Given the description of an element on the screen output the (x, y) to click on. 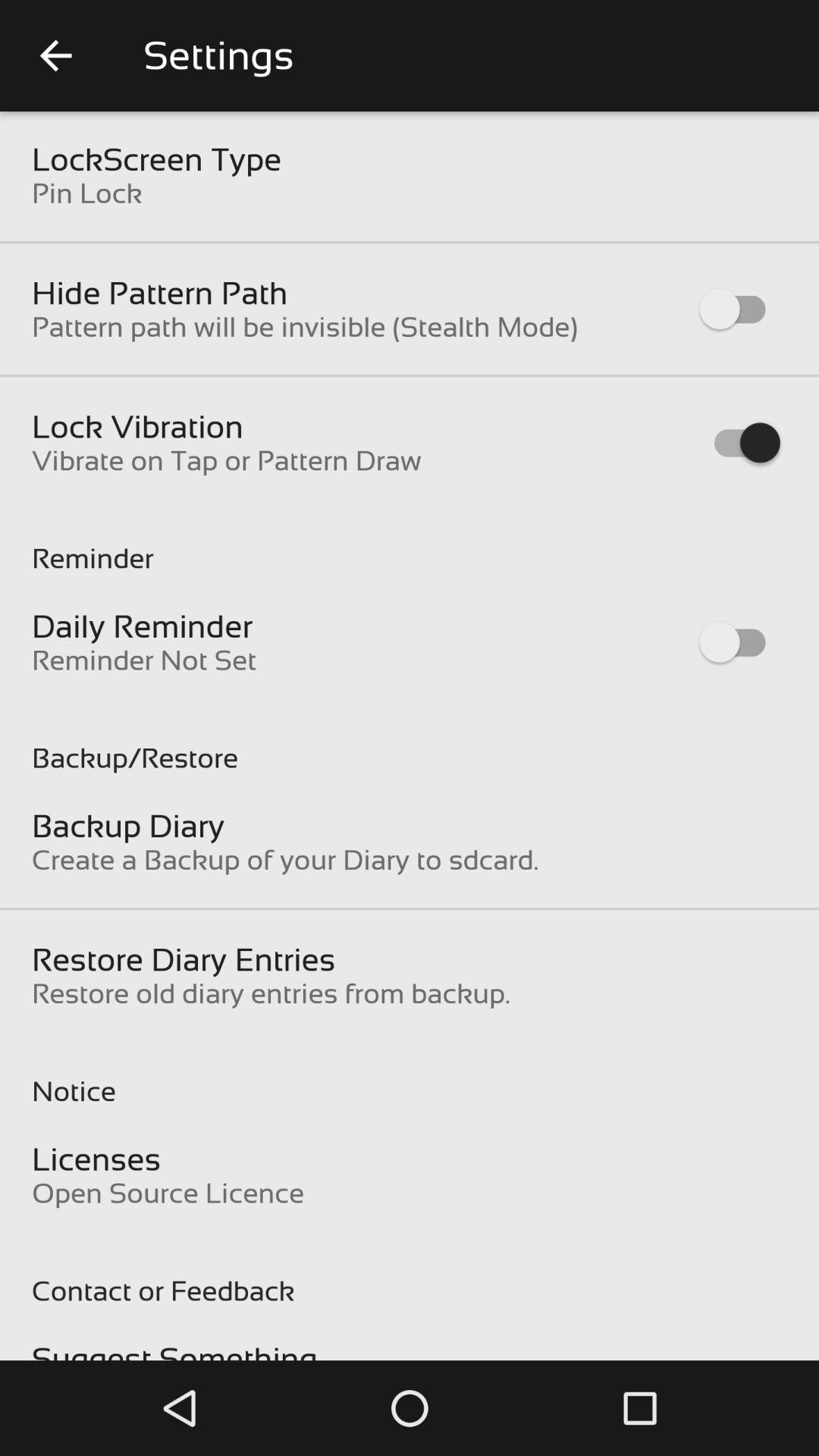
turn off item above reminder icon (226, 460)
